Given the description of an element on the screen output the (x, y) to click on. 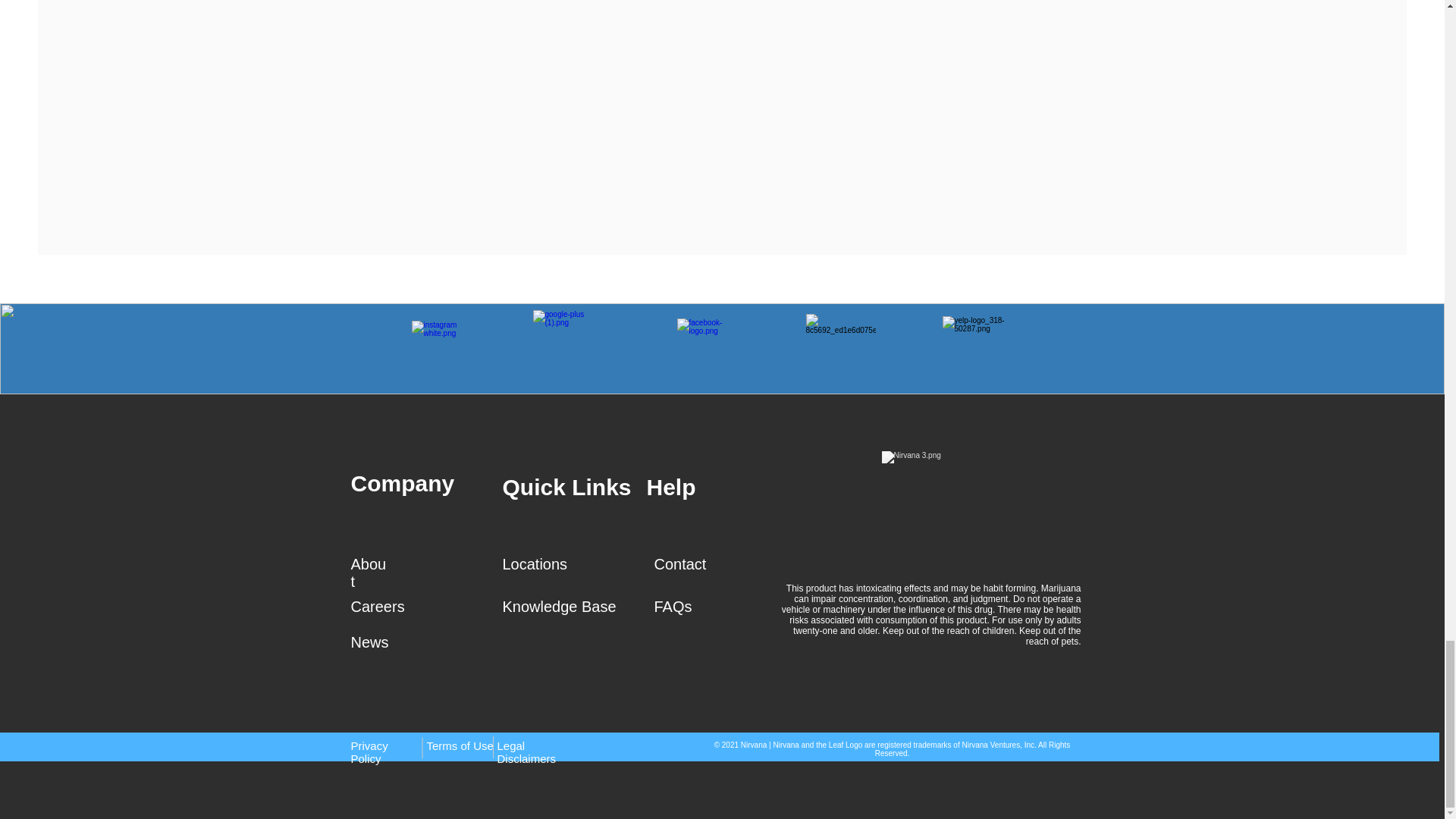
Privacy Policy  (368, 751)
FAQs (672, 606)
Legal Disclaimers (526, 751)
Terms of Use (459, 745)
About (367, 572)
Locations (534, 564)
Contact (679, 564)
Knowledge Base (558, 606)
News (369, 641)
